Given the description of an element on the screen output the (x, y) to click on. 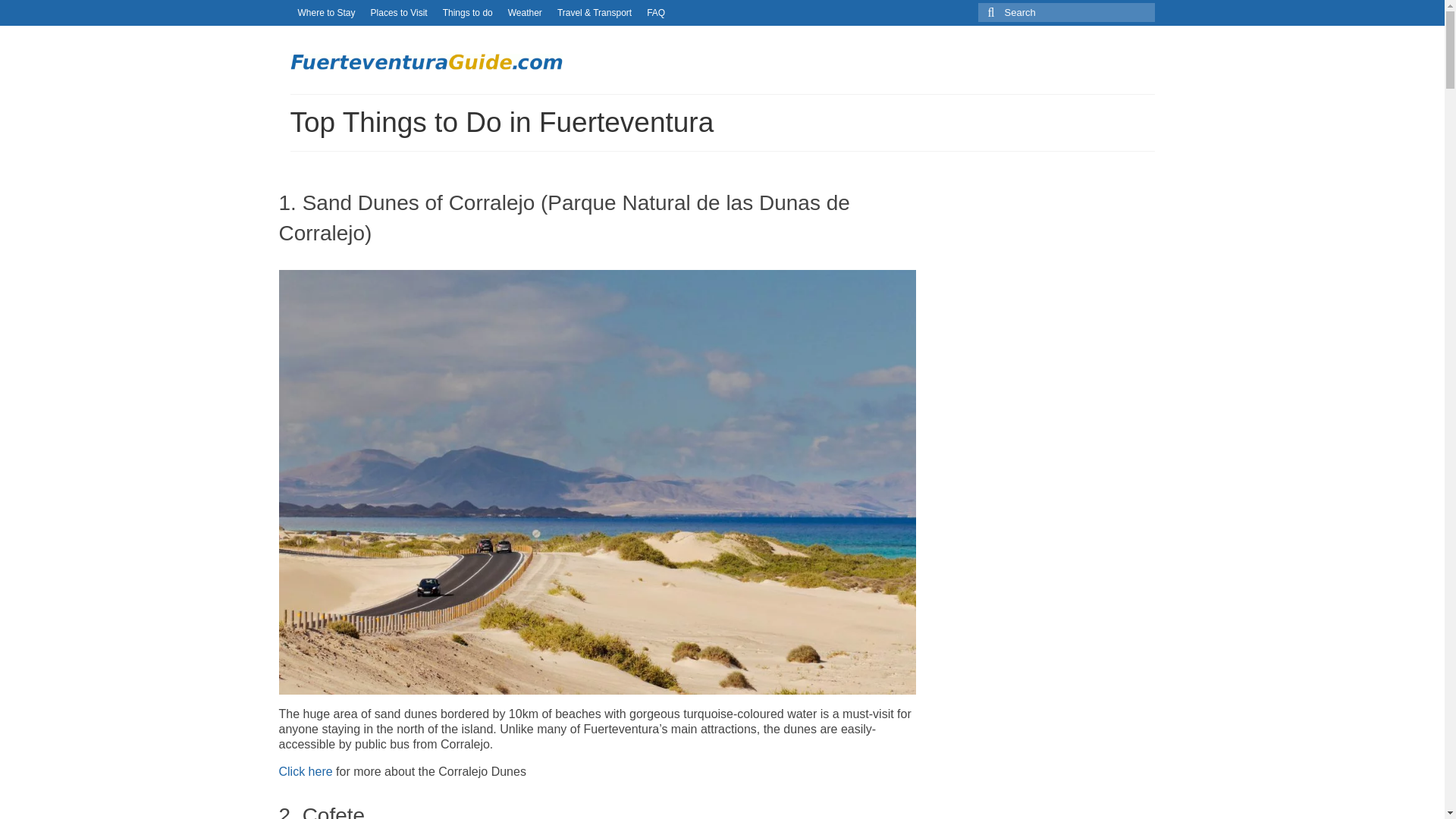
Where to Stay (325, 12)
Things to do (467, 12)
Weather (525, 12)
Places to Visit (398, 12)
The Sand Dunes of Corralejo (306, 771)
